Given the description of an element on the screen output the (x, y) to click on. 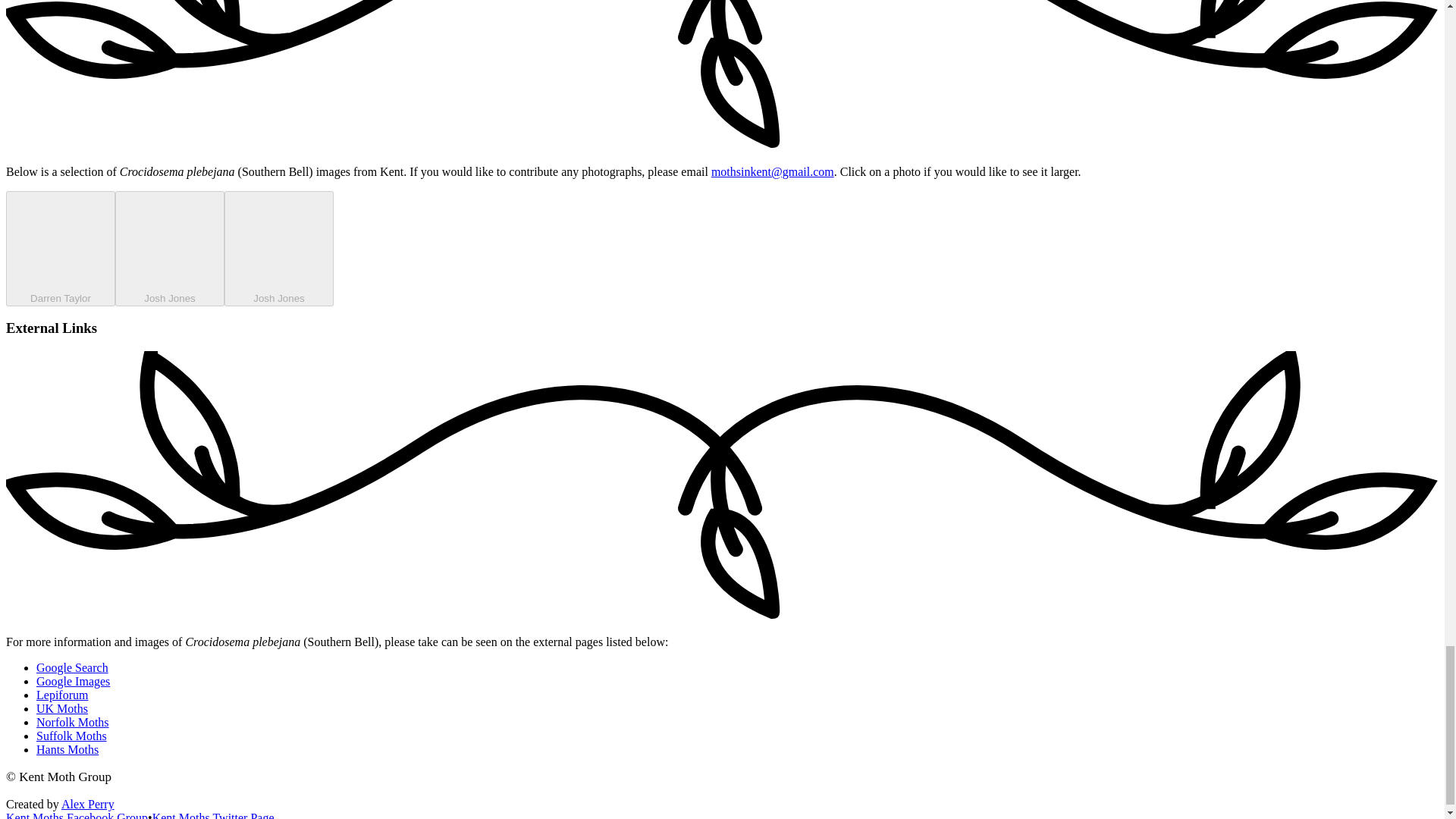
Lepiforum (61, 694)
Darren Taylor (60, 248)
Alex Perry (88, 803)
Suffolk Moths (71, 735)
Hants Moths (67, 748)
Google Images (73, 680)
Josh Jones (278, 248)
Josh Jones (169, 248)
Norfolk Moths (72, 721)
UK Moths (61, 707)
Google Search (71, 667)
